Given the description of an element on the screen output the (x, y) to click on. 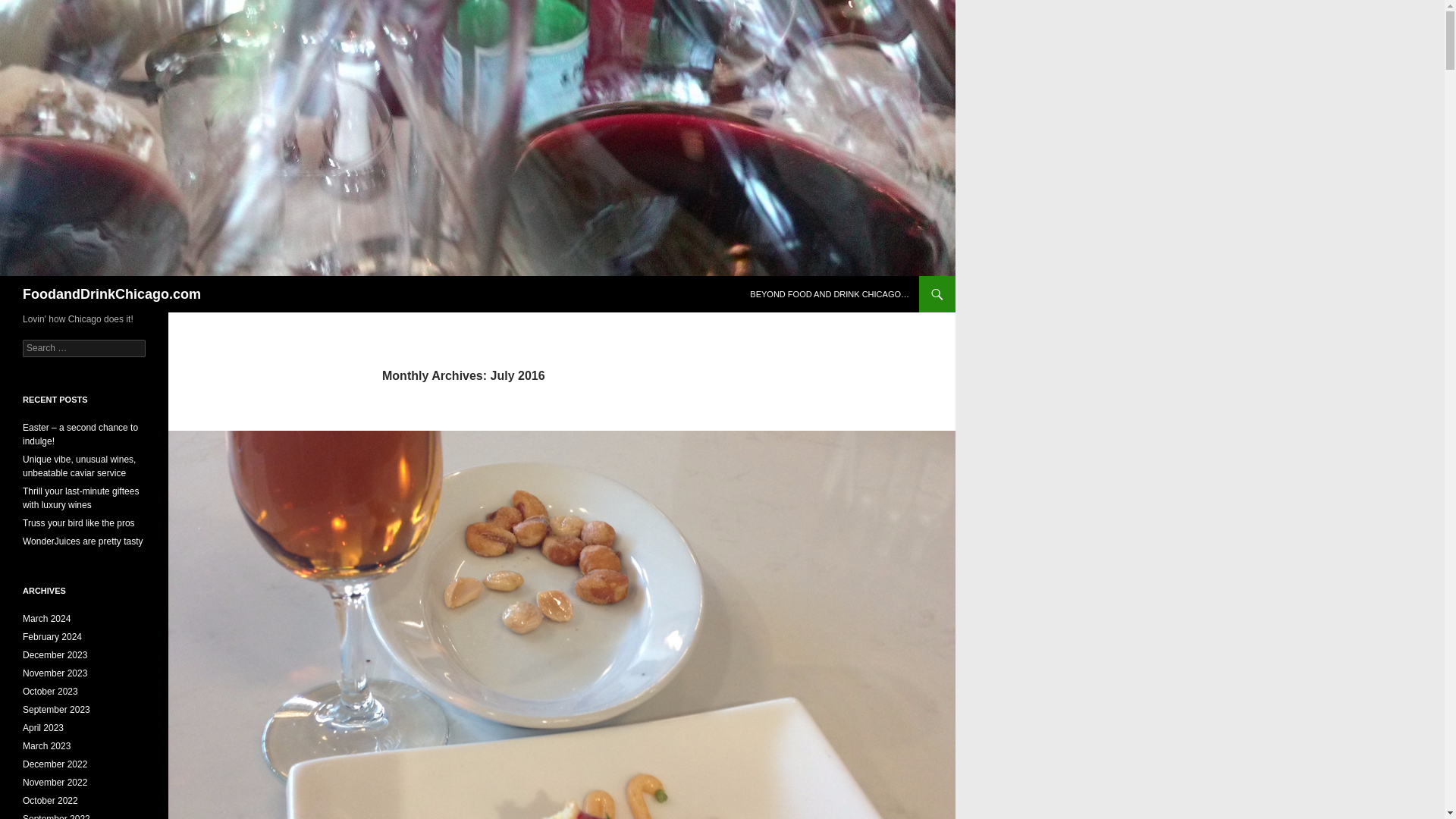
FoodandDrinkChicago.com (111, 294)
